Given the description of an element on the screen output the (x, y) to click on. 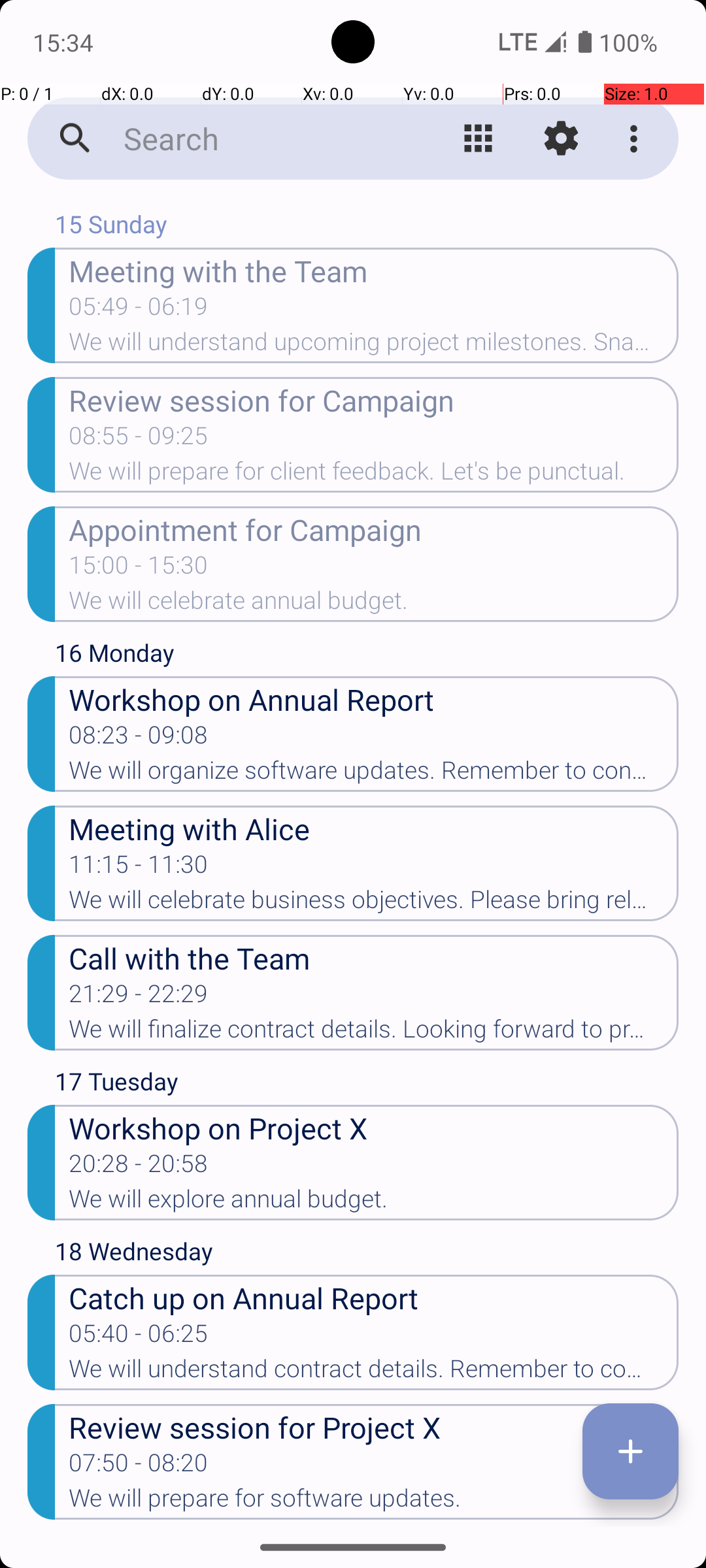
05:49 - 06:19 Element type: android.widget.TextView (137, 309)
We will understand upcoming project milestones. Snacks will be provided. Element type: android.widget.TextView (373, 345)
08:55 - 09:25 Element type: android.widget.TextView (137, 439)
We will prepare for client feedback. Let's be punctual. Element type: android.widget.TextView (373, 474)
15:00 - 15:30 Element type: android.widget.TextView (137, 568)
We will celebrate annual budget. Element type: android.widget.TextView (373, 603)
08:23 - 09:08 Element type: android.widget.TextView (137, 738)
We will organize software updates. Remember to confirm attendance. Element type: android.widget.TextView (373, 773)
11:15 - 11:30 Element type: android.widget.TextView (137, 867)
We will celebrate business objectives. Please bring relevant documents. Element type: android.widget.TextView (373, 903)
21:29 - 22:29 Element type: android.widget.TextView (137, 997)
We will finalize contract details. Looking forward to productive discussions. Element type: android.widget.TextView (373, 1032)
20:28 - 20:58 Element type: android.widget.TextView (137, 1167)
We will explore annual budget. Element type: android.widget.TextView (373, 1202)
05:40 - 06:25 Element type: android.widget.TextView (137, 1337)
We will understand contract details. Remember to confirm attendance. Element type: android.widget.TextView (373, 1372)
07:50 - 08:20 Element type: android.widget.TextView (137, 1466)
We will prepare for software updates. Element type: android.widget.TextView (373, 1501)
